Given the description of an element on the screen output the (x, y) to click on. 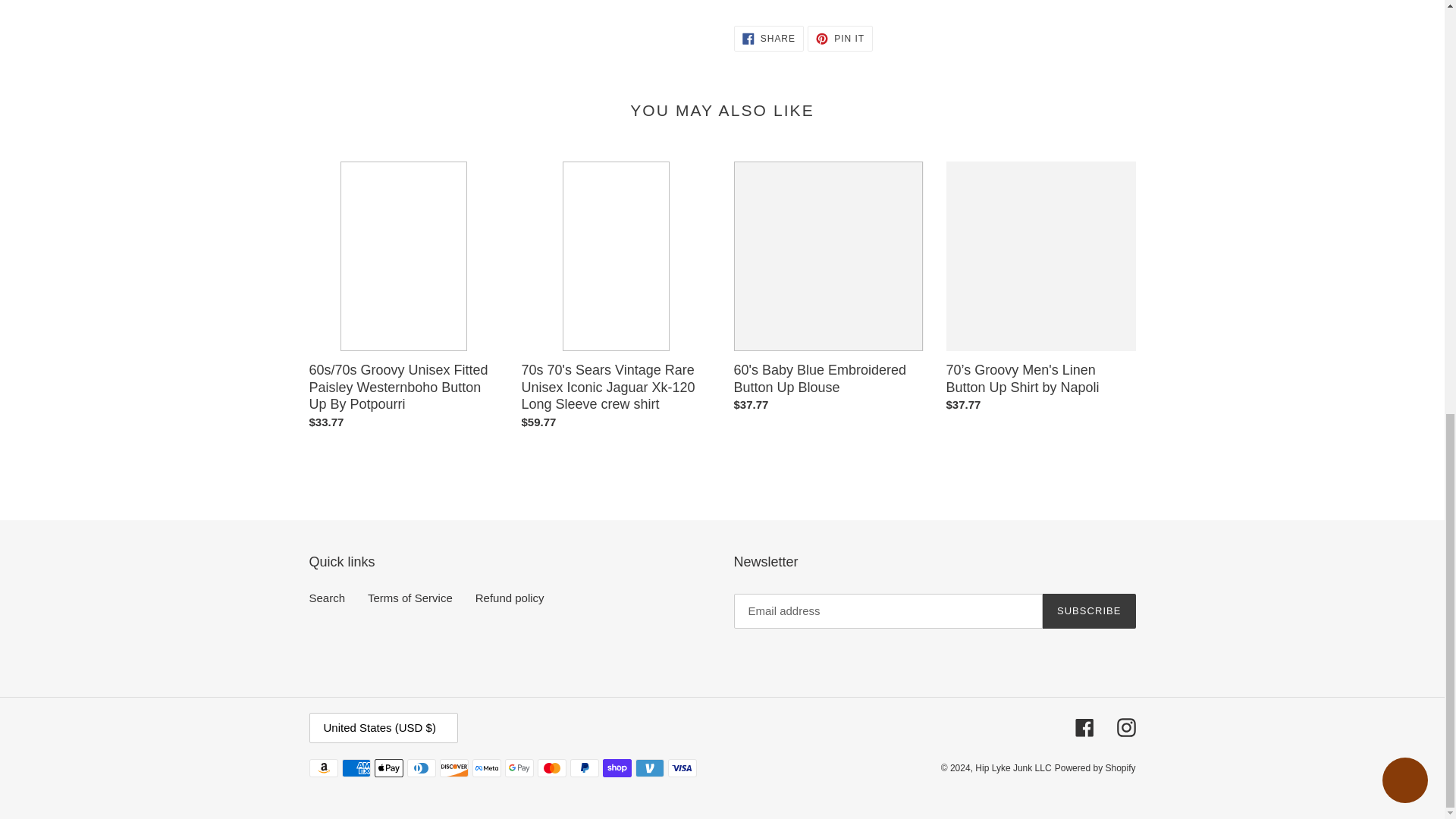
Terms of Service (768, 38)
Search (410, 597)
Refund policy (327, 597)
SUBSCRIBE (840, 38)
